Given the description of an element on the screen output the (x, y) to click on. 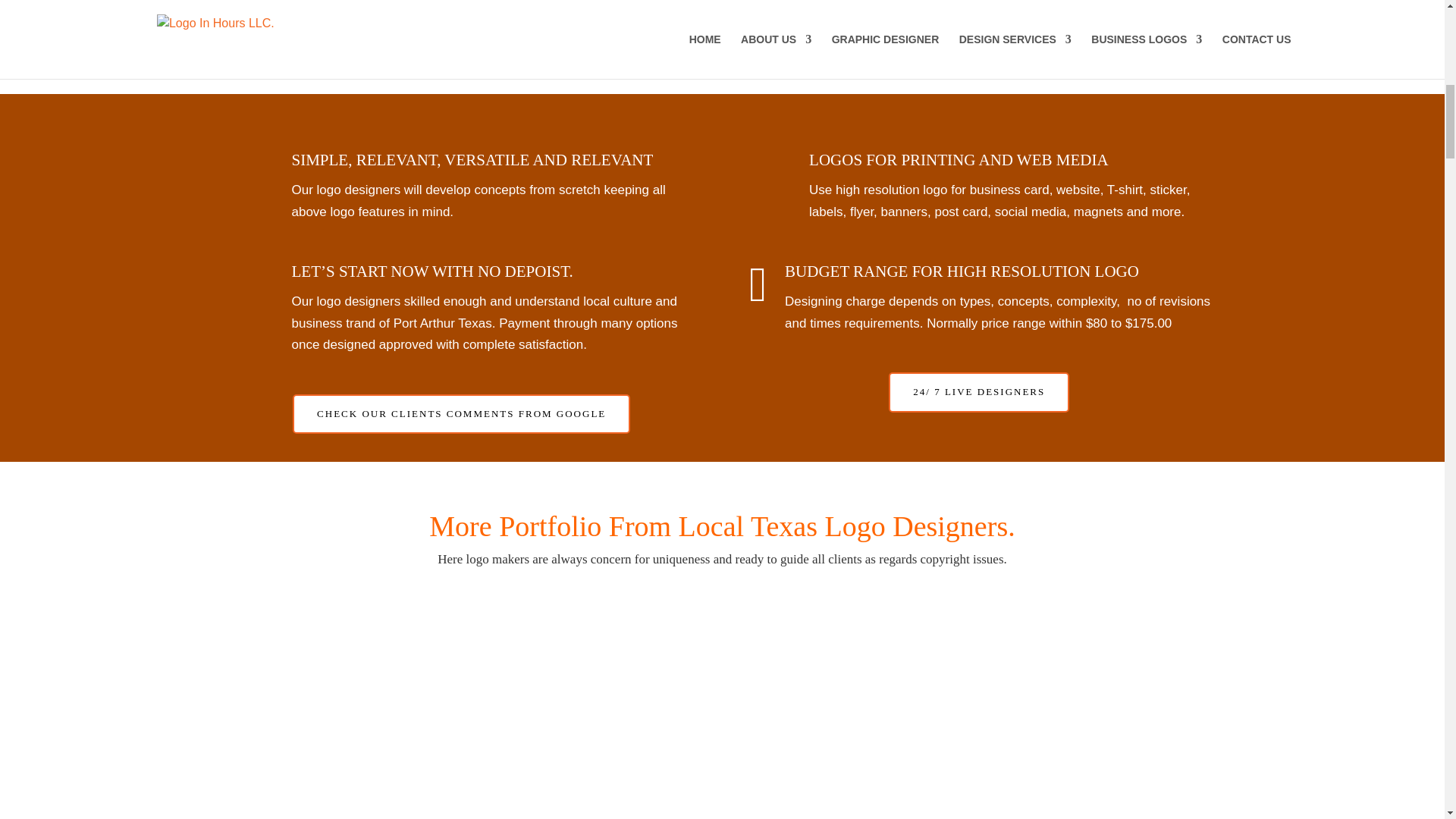
logo-for-small-business (722, 707)
FREE CONSULTATION (719, 6)
CHECK OUR CLIENTS COMMENTS FROM GOOGLE (461, 413)
